Given the description of an element on the screen output the (x, y) to click on. 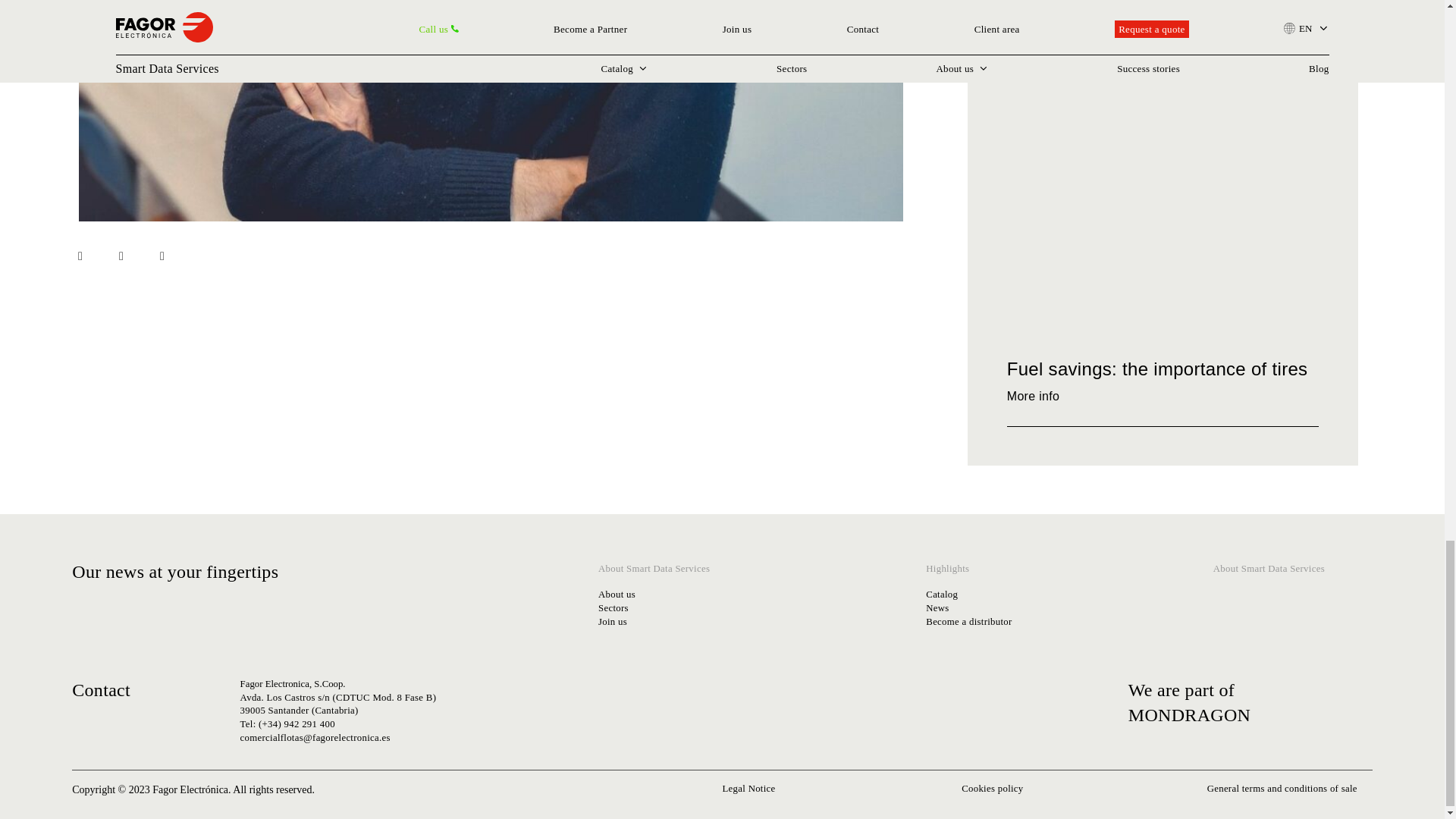
More info (1042, 395)
Catalog (968, 594)
About us (661, 594)
Highlights (960, 575)
Join us (661, 622)
Fuel savings: the importance of tires (1157, 368)
Our news at your fingertips (193, 571)
Sectors (661, 608)
About Smart Data Services (654, 575)
